Given the description of an element on the screen output the (x, y) to click on. 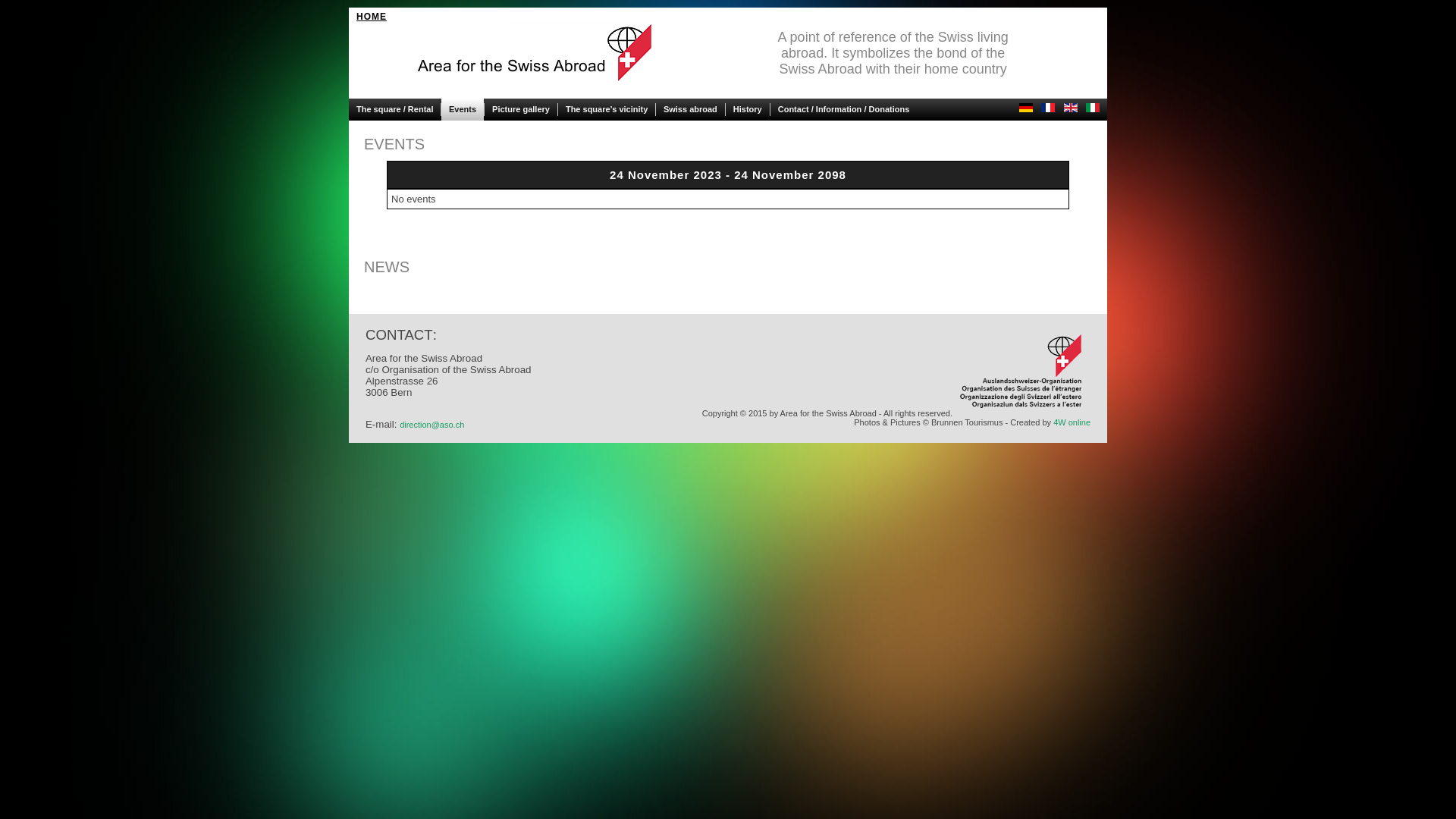
Picture gallery Element type: text (520, 109)
Events Element type: text (462, 109)
French (FR)  Element type: hover (1047, 107)
The square / Rental Element type: text (394, 109)
Italian (IT) Element type: hover (1092, 107)
Contact / Information / Donations Element type: text (843, 109)
English (UK) Element type: hover (1070, 107)
4W online Element type: text (1071, 421)
Swiss abroad Element type: text (689, 109)
direction@aso.ch Element type: text (431, 424)
History Element type: text (747, 109)
HOME Element type: text (371, 16)
German (DE) Element type: hover (1025, 107)
